Given the description of an element on the screen output the (x, y) to click on. 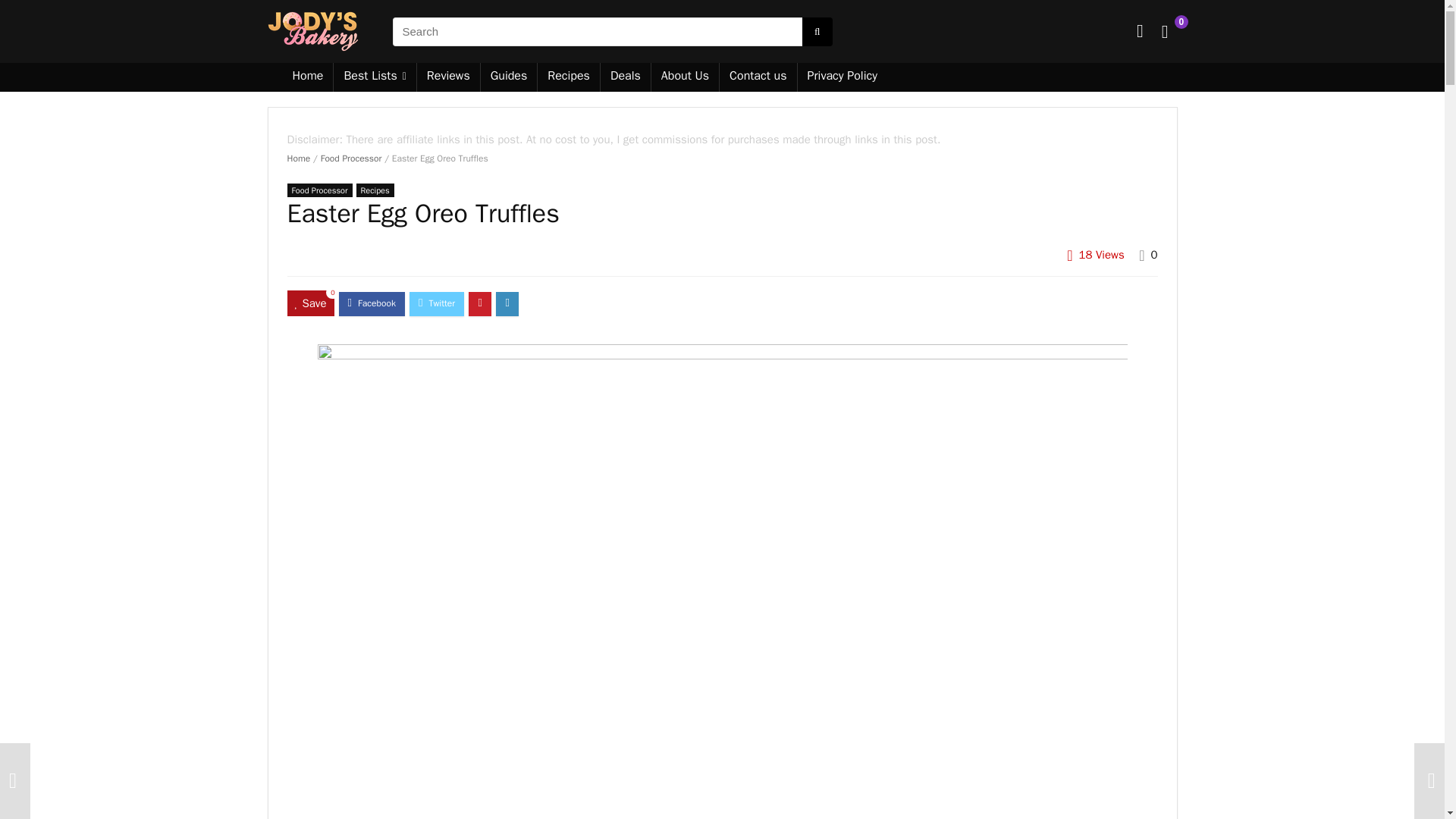
Deals (624, 77)
Reviews (448, 77)
About Us (684, 77)
Recipes (375, 190)
Recipes (568, 77)
Home (298, 158)
View all posts in Food Processor (319, 190)
Home (307, 77)
Best Lists (373, 77)
Guides (508, 77)
Privacy Policy (841, 77)
View all posts in Recipes (375, 190)
Food Processor (350, 158)
Food Processor (319, 190)
Contact us (757, 77)
